Given the description of an element on the screen output the (x, y) to click on. 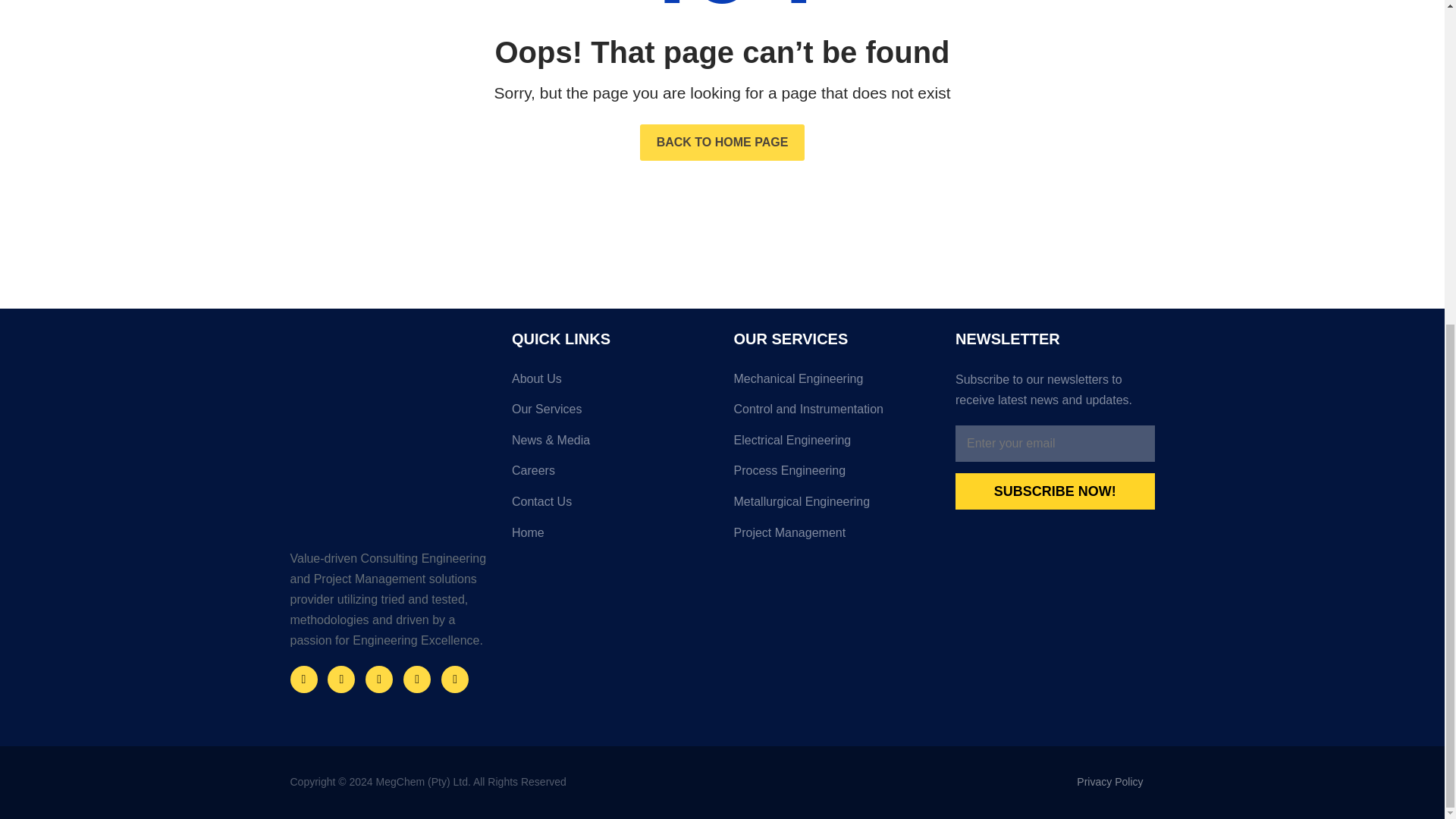
BACK TO HOME PAGE (722, 142)
About Us (611, 384)
Careers (611, 476)
Contact Us (611, 507)
Mechanical Engineering (833, 384)
Home (611, 538)
Control and Instrumentation (833, 414)
Our Services (611, 414)
